Given the description of an element on the screen output the (x, y) to click on. 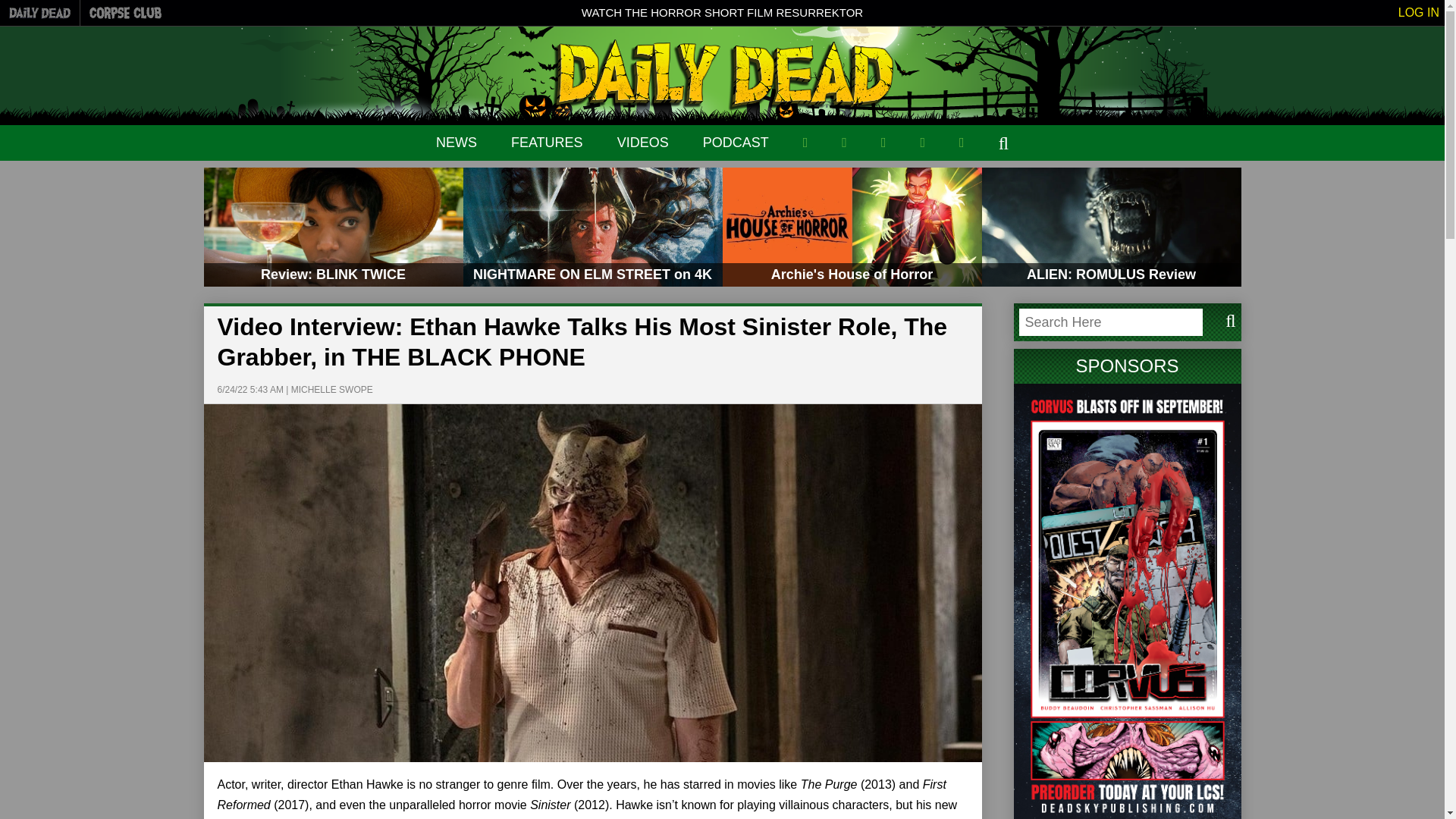
LOG IN (1418, 11)
MICHELLE SWOPE (331, 389)
VIDEOS (642, 142)
NIGHTMARE ON ELM STREET on 4K (592, 226)
FEATURES (547, 142)
Review: BLINK TWICE (333, 226)
WATCH THE HORROR SHORT FILM RESURREKTOR (721, 11)
Archie's House of Horror (851, 226)
PODCAST (735, 142)
